Given the description of an element on the screen output the (x, y) to click on. 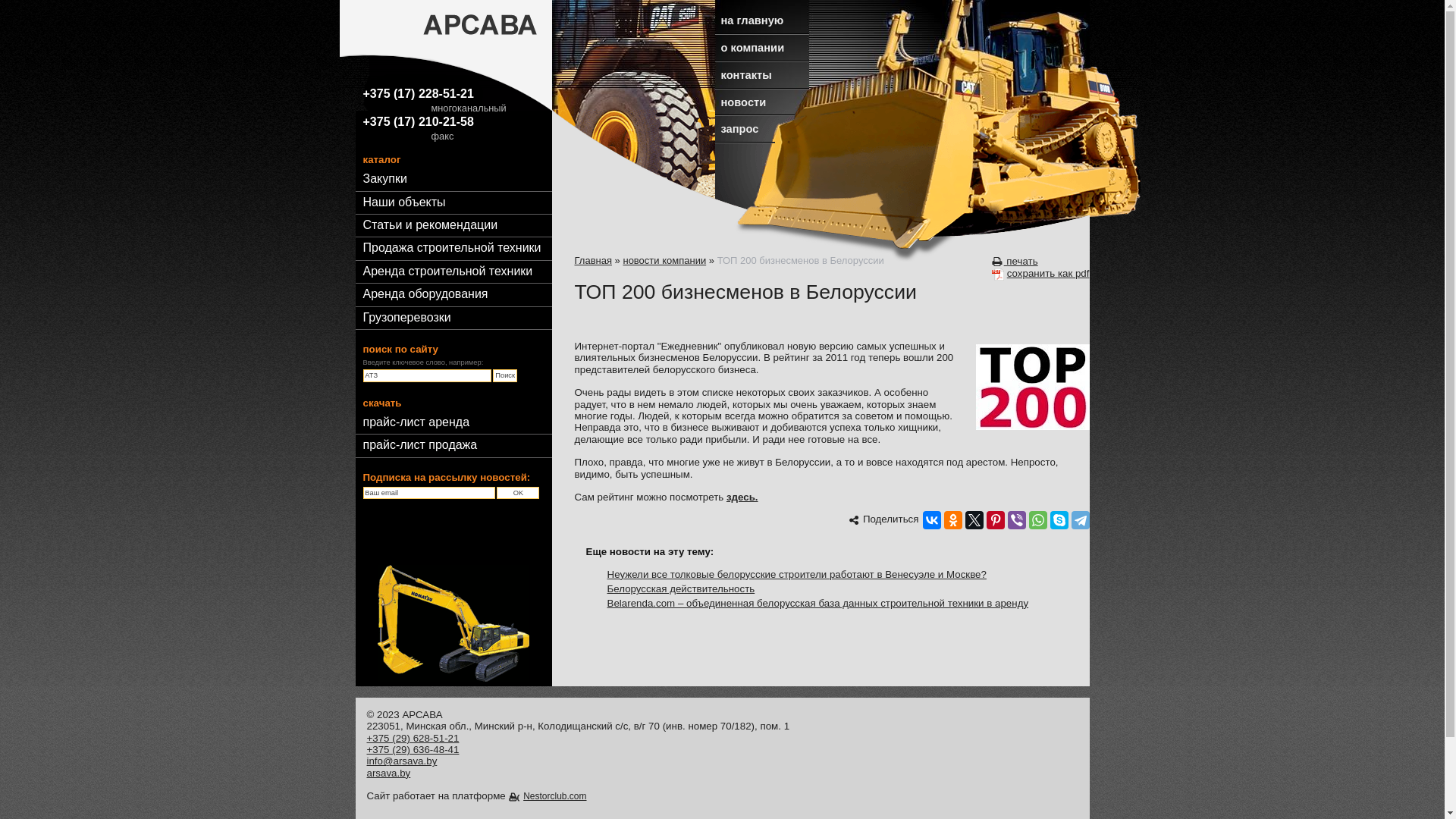
Twitter Element type: hover (973, 520)
+375 (29) 636-48-41 Element type: text (413, 749)
Nestorclub.com Element type: text (547, 795)
Skype Element type: hover (1058, 520)
arsava.by Element type: text (389, 772)
+375 (29) 628-51-21 Element type: text (413, 737)
WhatsApp Element type: hover (1037, 520)
Telegram Element type: hover (1079, 520)
info@arsava.by Element type: text (402, 760)
Viber Element type: hover (1016, 520)
OK Element type: text (517, 492)
Pinterest Element type: hover (994, 520)
